Given the description of an element on the screen output the (x, y) to click on. 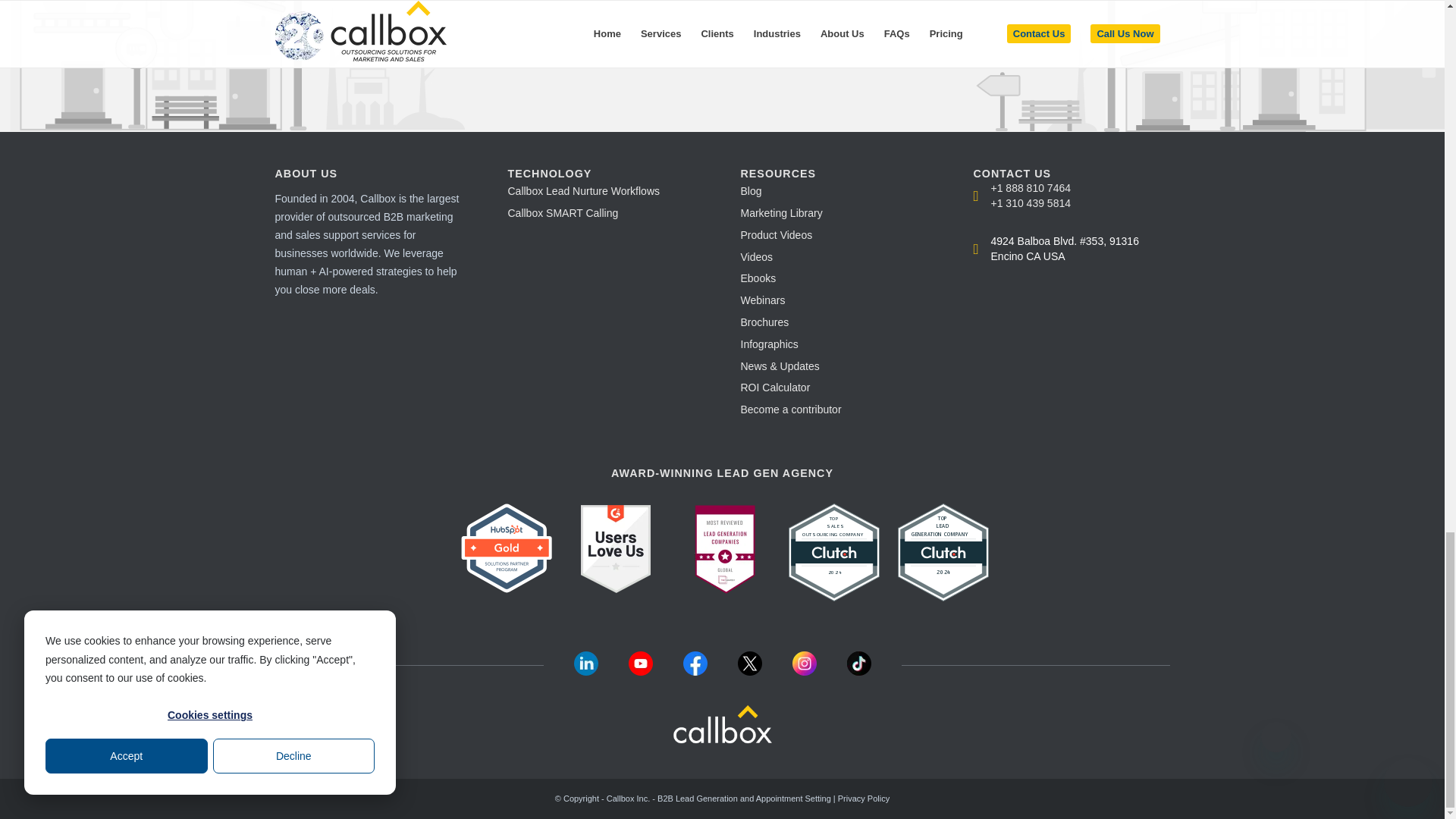
Instagram (803, 671)
Facebook (694, 671)
Linkedin (584, 671)
X (748, 671)
Tiktok (857, 671)
Youtube (639, 671)
